Given the description of an element on the screen output the (x, y) to click on. 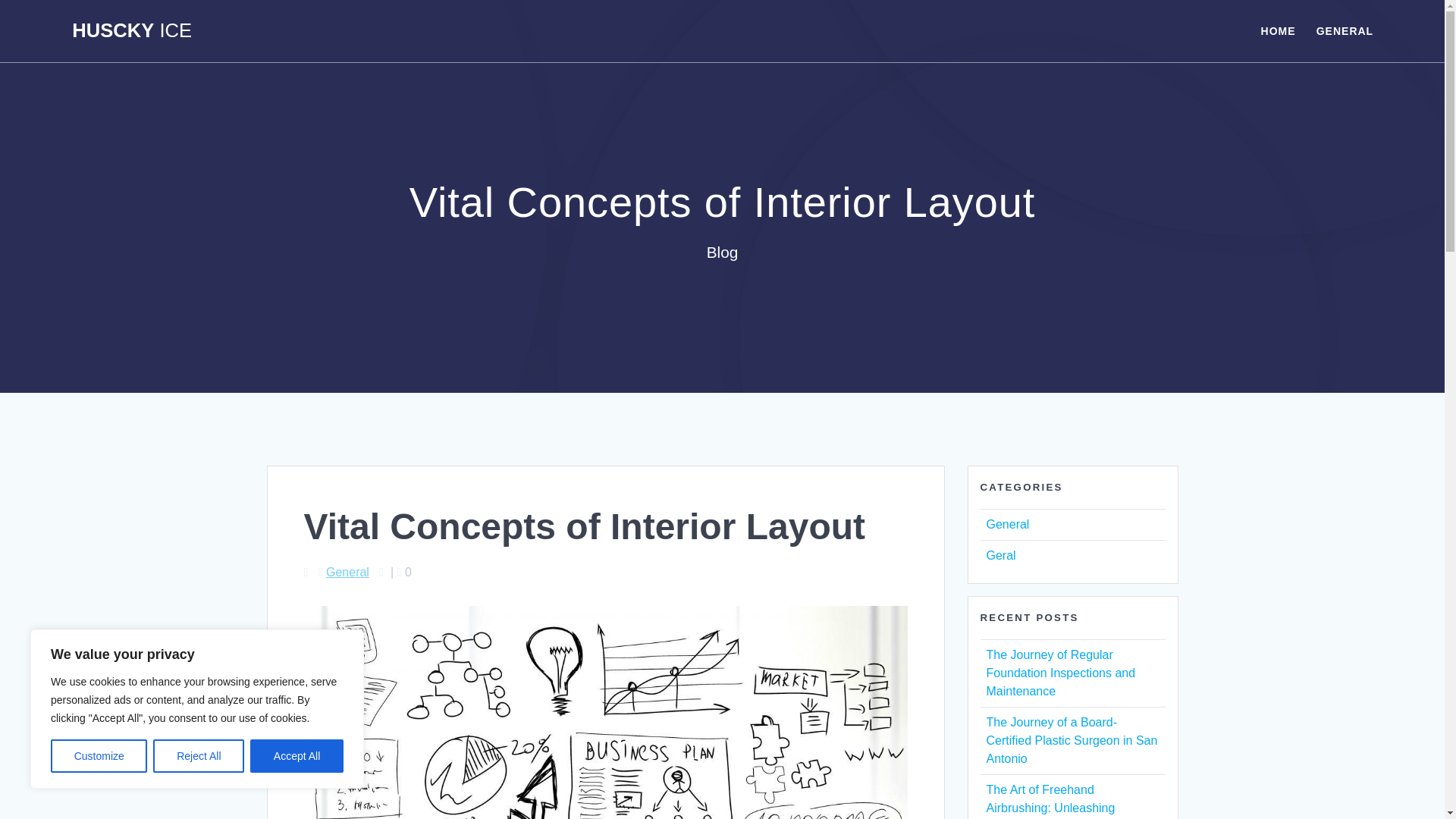
HUSCKY ICE (131, 30)
HOME (1277, 30)
General (347, 571)
GENERAL (1344, 30)
Accept All (296, 756)
Geral (999, 554)
Customize (98, 756)
General (1007, 523)
Reject All (198, 756)
